Given the description of an element on the screen output the (x, y) to click on. 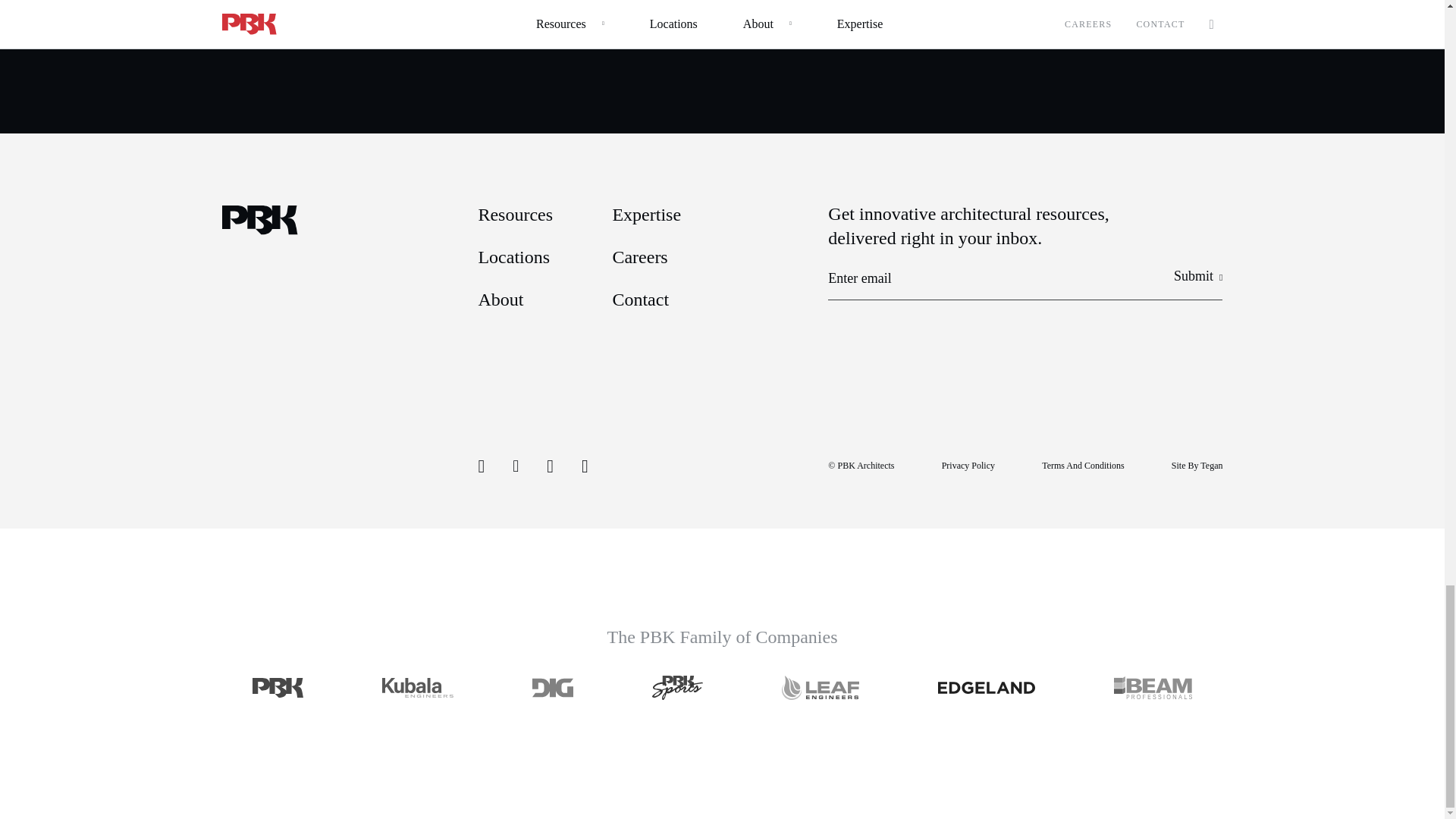
Expertise (646, 214)
Resources (515, 214)
Submit (1198, 276)
Site By Tegan (1197, 465)
Locations (513, 256)
About (499, 299)
Contact (639, 299)
Privacy Policy (968, 465)
Terms And Conditions (1083, 465)
Careers (638, 256)
